Given the description of an element on the screen output the (x, y) to click on. 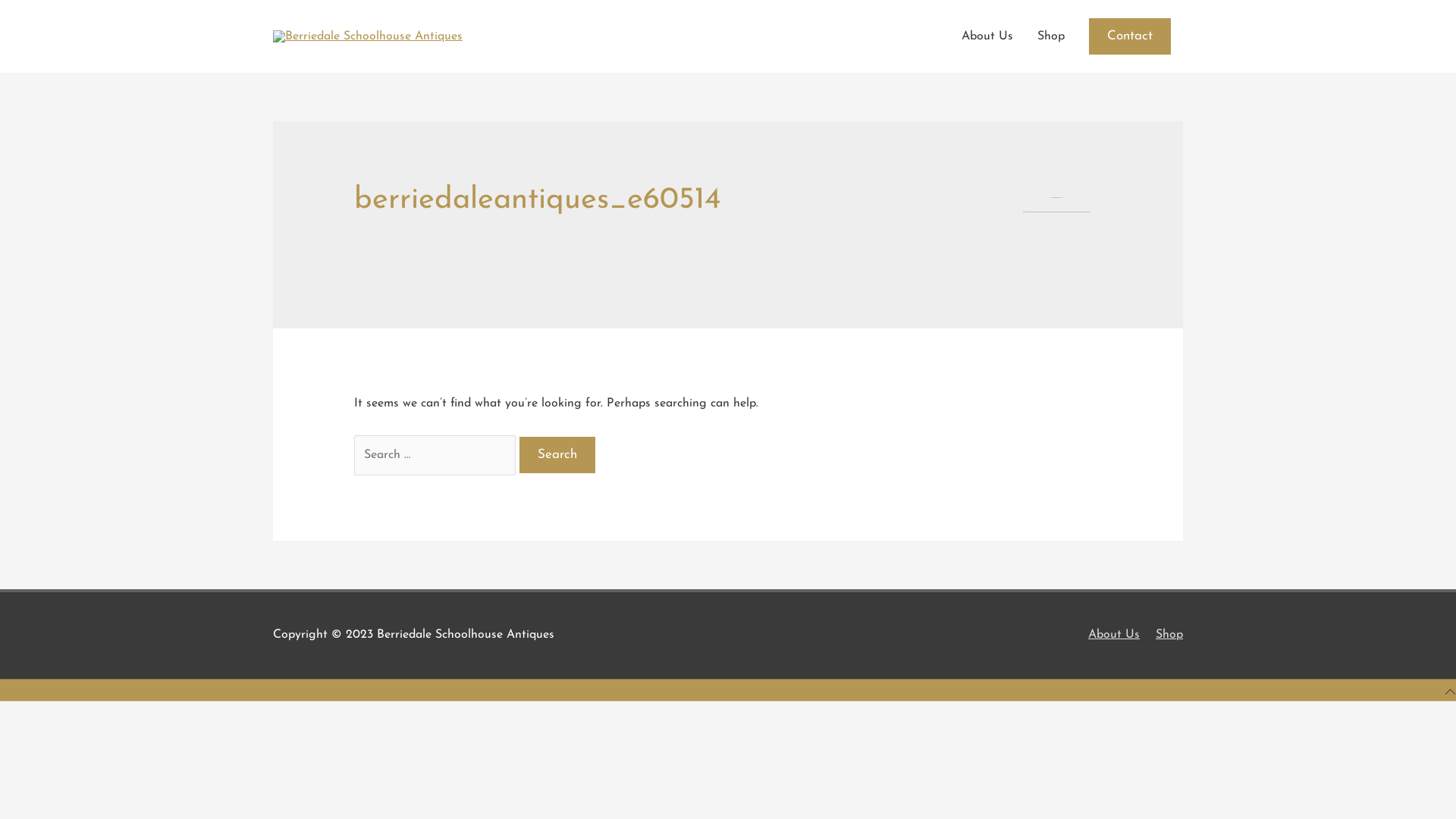
About Us Element type: text (1107, 634)
Contact Element type: text (1129, 36)
Shop Element type: text (1050, 36)
Search Element type: text (557, 454)
About Us Element type: text (987, 36)
Shop Element type: text (1163, 634)
